Given the description of an element on the screen output the (x, y) to click on. 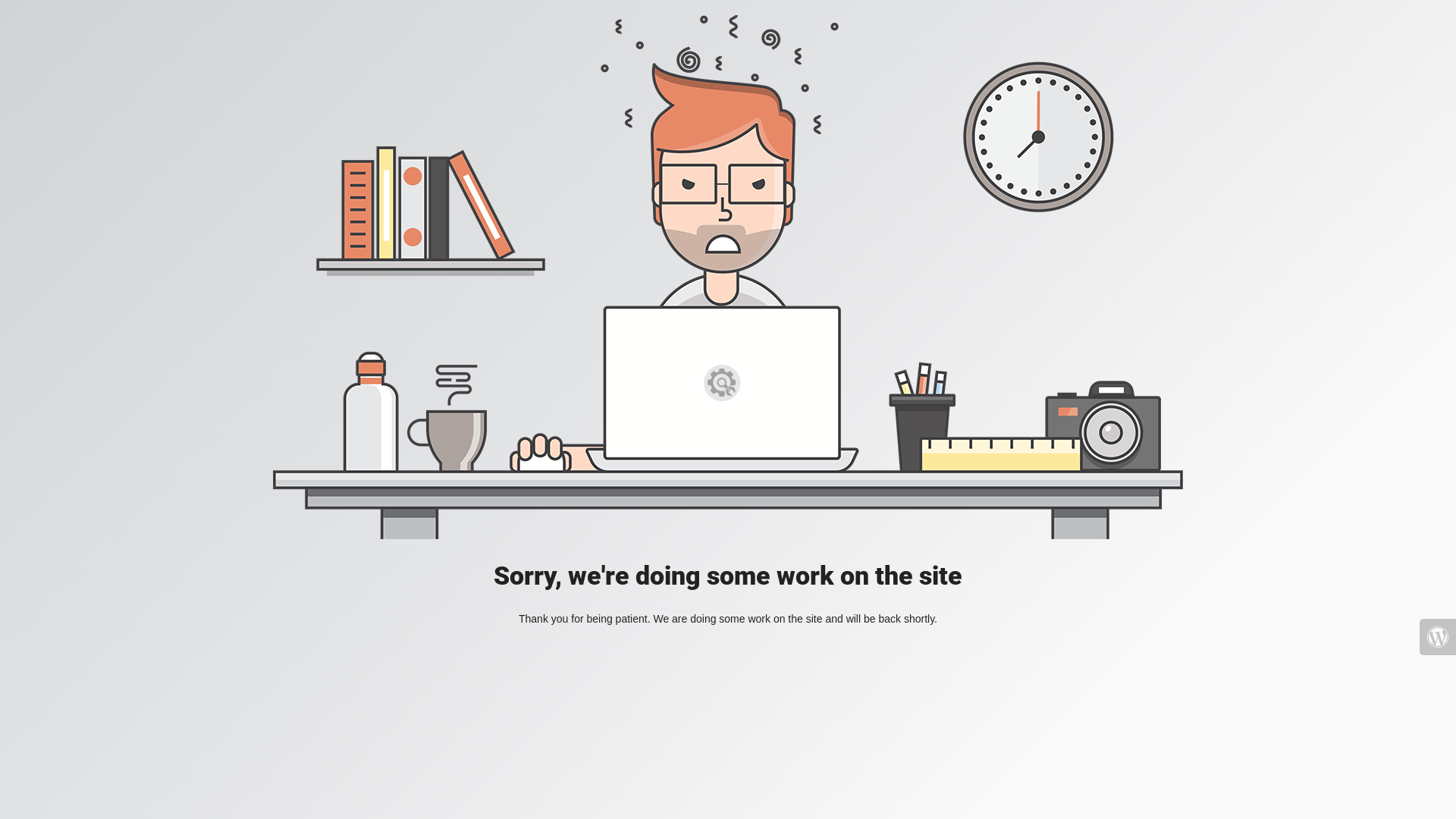
Mad Designer at work Element type: hover (728, 277)
